Given the description of an element on the screen output the (x, y) to click on. 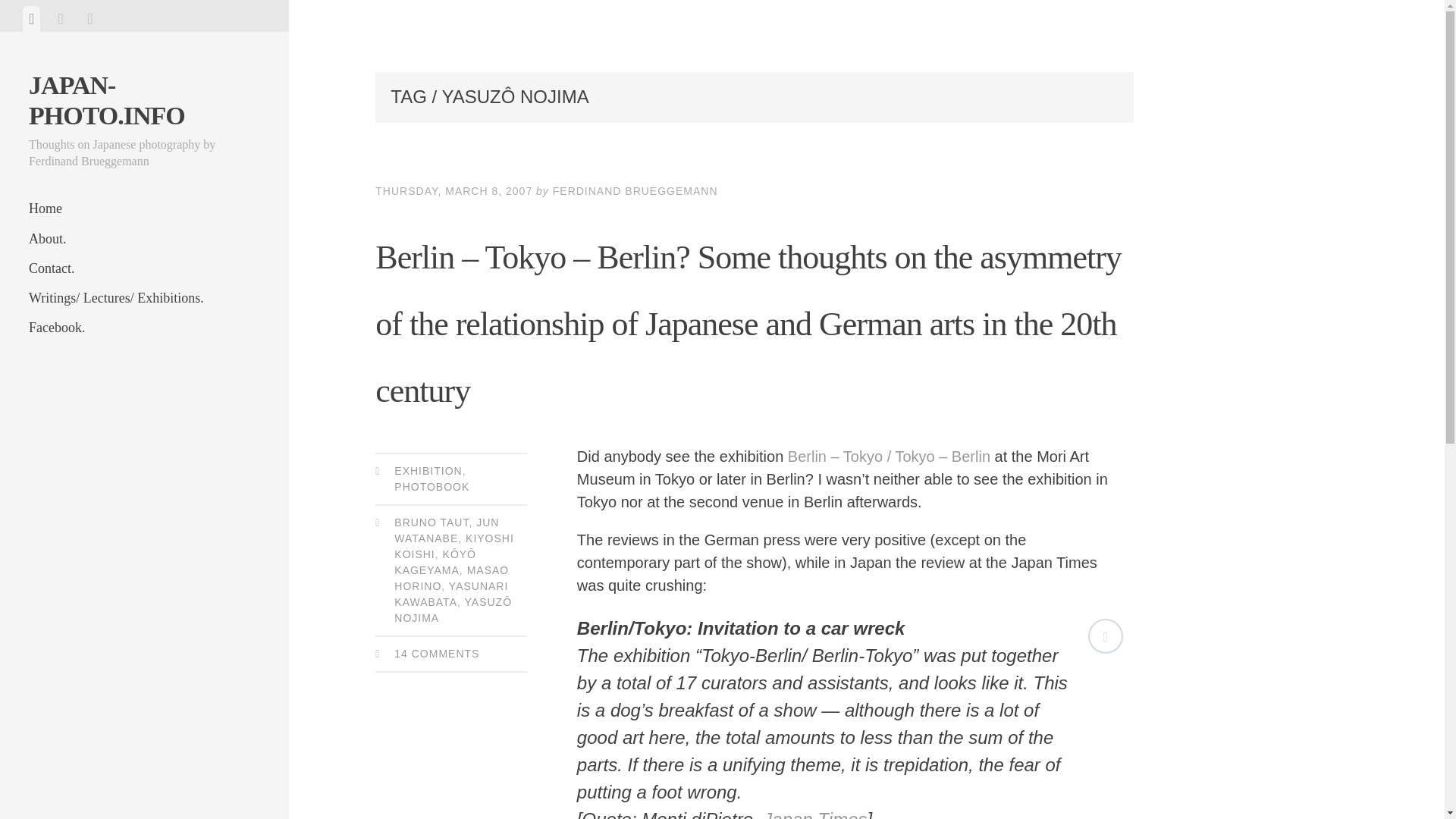
JAPAN-PHOTO.INFO (106, 100)
Contact. (144, 268)
Exhibition page at Mori Art Museum (888, 456)
About. (144, 238)
Facebook. (144, 327)
Home (144, 208)
